Given the description of an element on the screen output the (x, y) to click on. 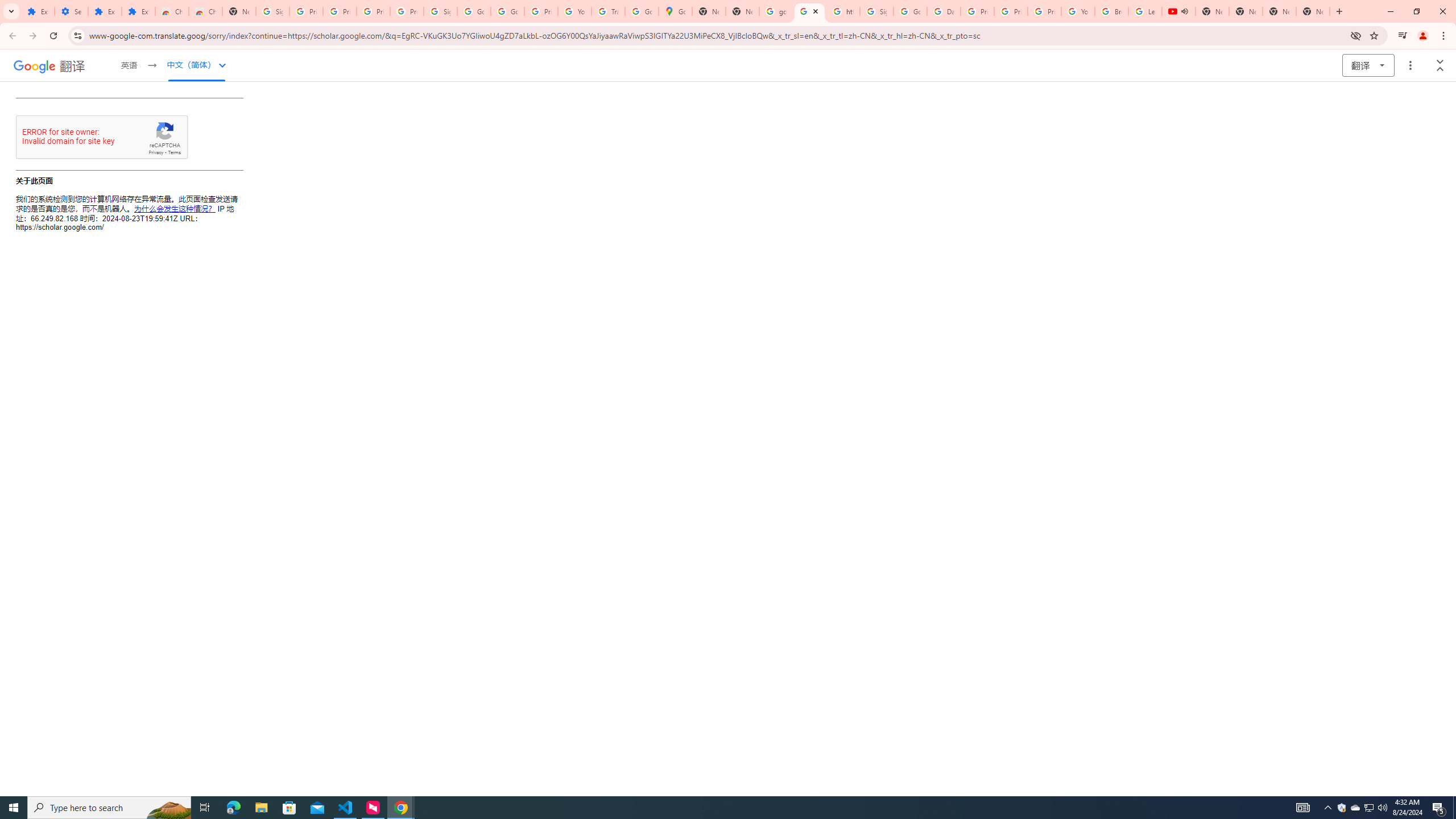
Privacy Help Center - Policies Help (976, 11)
Chrome Web Store - Themes (205, 11)
Sign in - Google Accounts (441, 11)
Privacy Help Center - Policies Help (1010, 11)
YouTube (574, 11)
https://scholar.google.com/ (809, 11)
Sign in - Google Accounts (272, 11)
Google (34, 65)
